Given the description of an element on the screen output the (x, y) to click on. 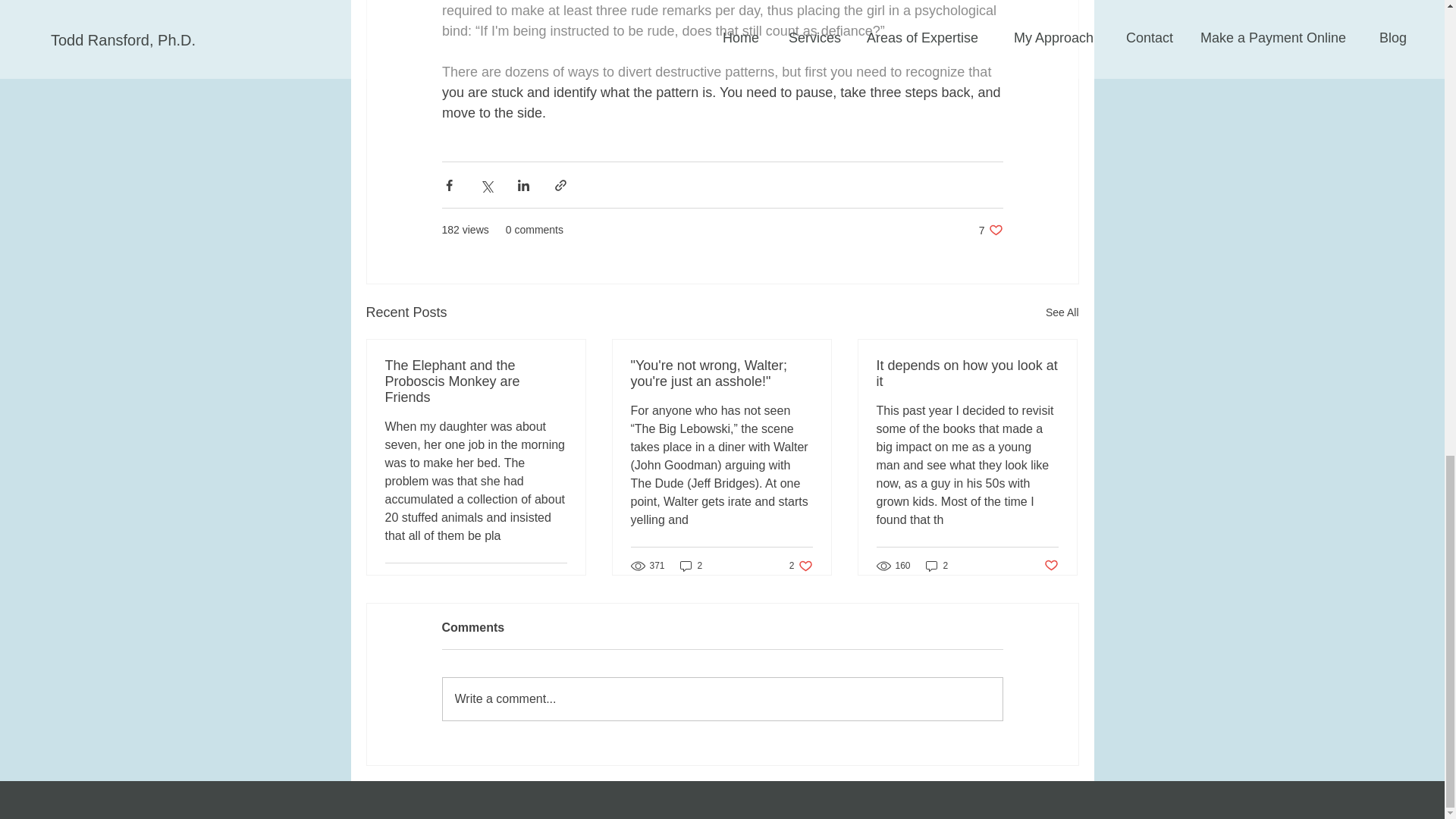
2 (691, 565)
It depends on how you look at it (967, 373)
Write a comment... (800, 565)
2 (722, 699)
"You're not wrong, Walter; you're just an asshole!" (937, 565)
The Elephant and the Proboscis Monkey are Friends (721, 373)
Post not marked as liked (476, 381)
See All (1050, 565)
1 like. Post not marked as liked (1061, 312)
